Given the description of an element on the screen output the (x, y) to click on. 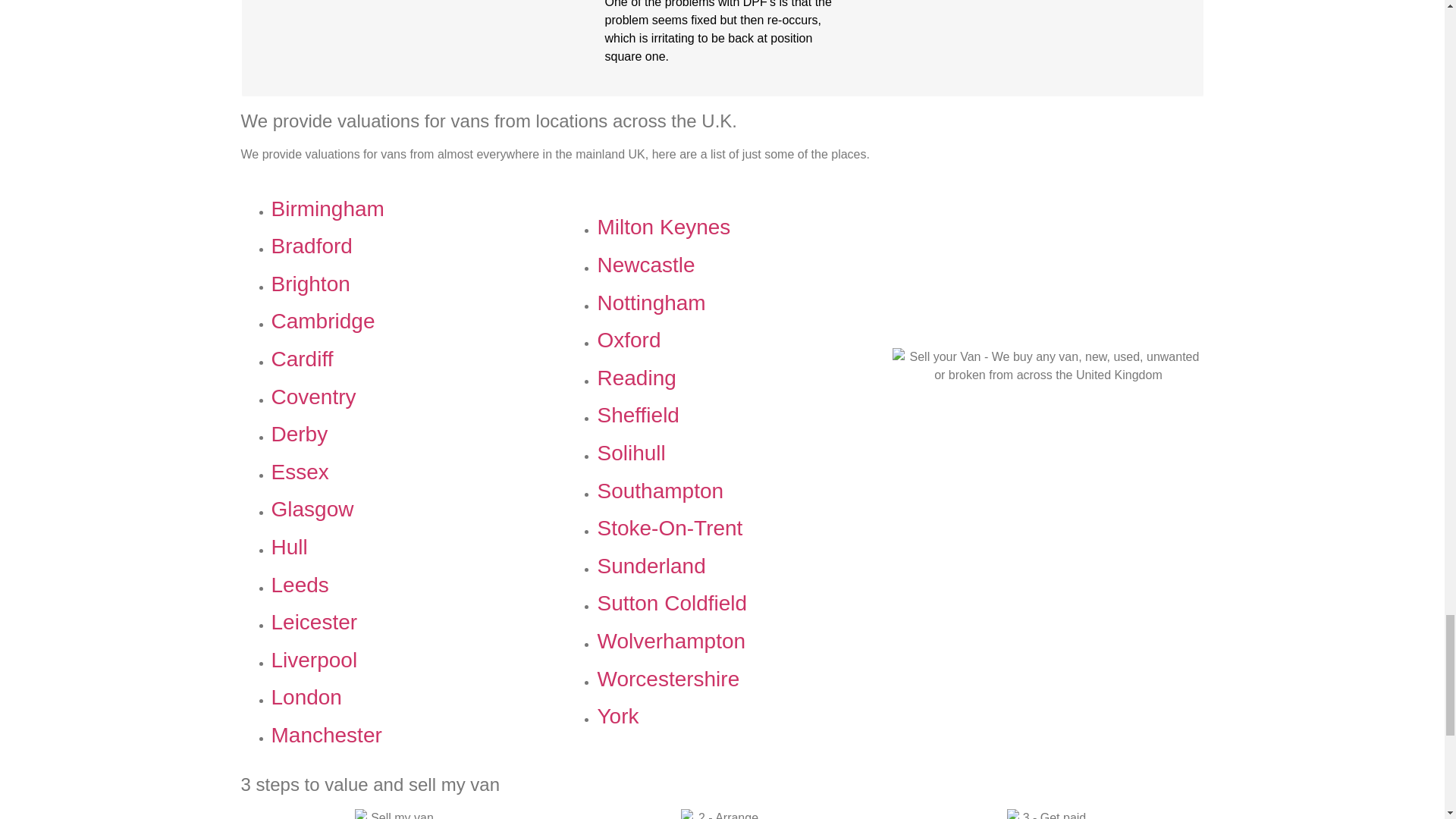
Cardiff (301, 359)
Birmingham (327, 208)
Brighton (310, 283)
Derby (299, 433)
Bradford (311, 245)
Essex (299, 472)
Cambridge (322, 320)
Coventry (313, 396)
Glasgow (311, 508)
